Given the description of an element on the screen output the (x, y) to click on. 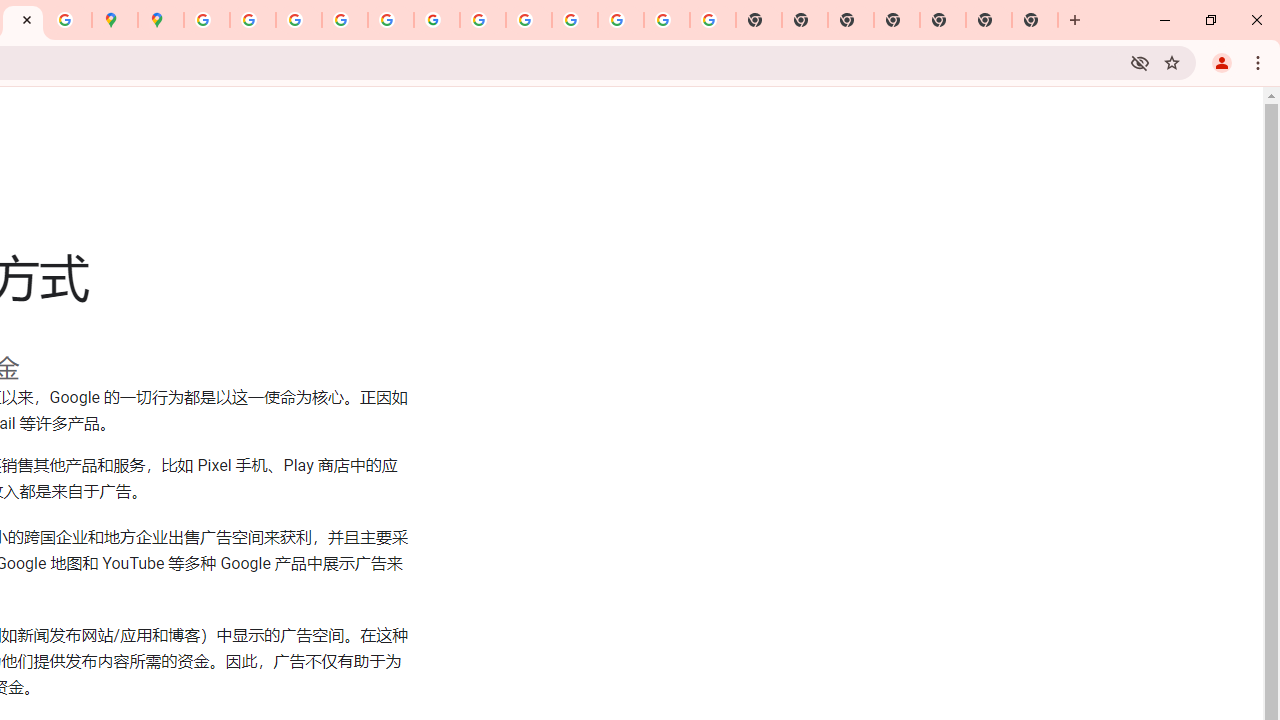
Privacy Help Center - Policies Help (345, 20)
New Tab (897, 20)
Privacy Help Center - Policies Help (299, 20)
Safety in Our Products - Google Safety Center (69, 20)
YouTube (482, 20)
